Given the description of an element on the screen output the (x, y) to click on. 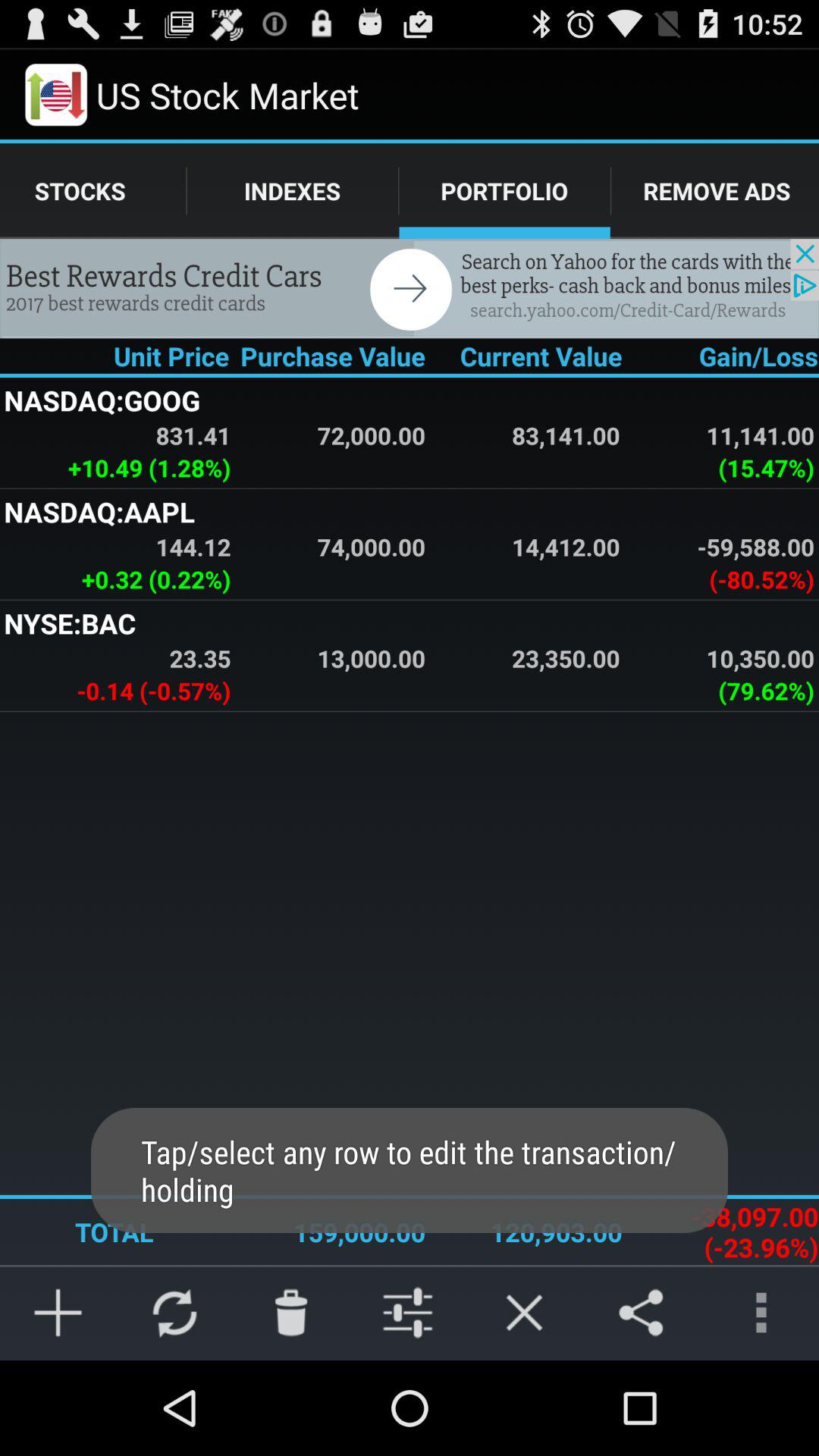
advertisement (409, 288)
